Given the description of an element on the screen output the (x, y) to click on. 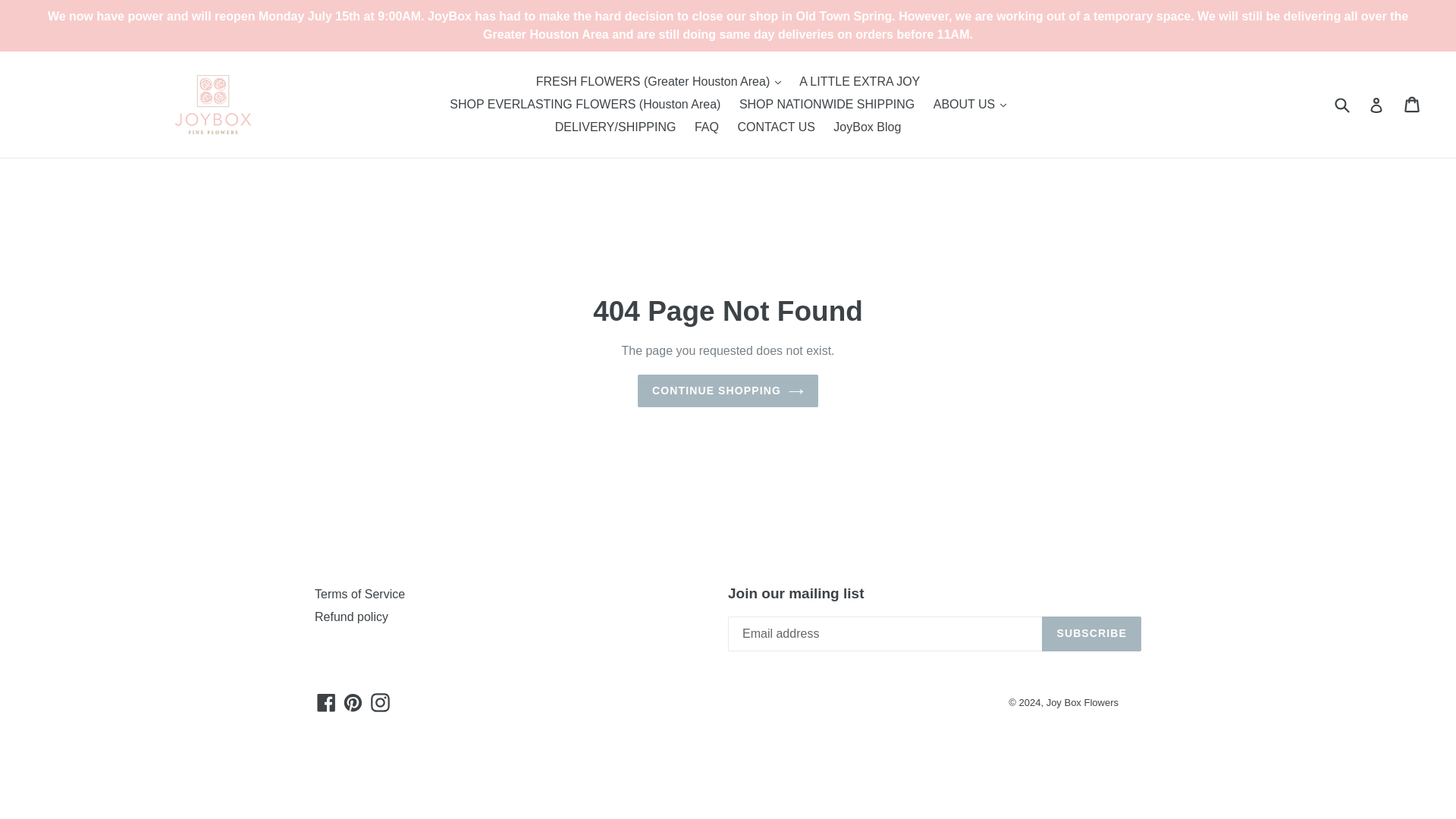
A LITTLE EXTRA JOY (859, 81)
SHOP NATIONWIDE SHIPPING (826, 104)
A LITTLE EXTRA JOY (859, 81)
JoyBox Blog (866, 127)
Joy Box Flowers (212, 104)
CONTACT US (775, 127)
CONTINUE SHOPPING (727, 390)
Terms of Service (359, 594)
FAQ (706, 127)
